Given the description of an element on the screen output the (x, y) to click on. 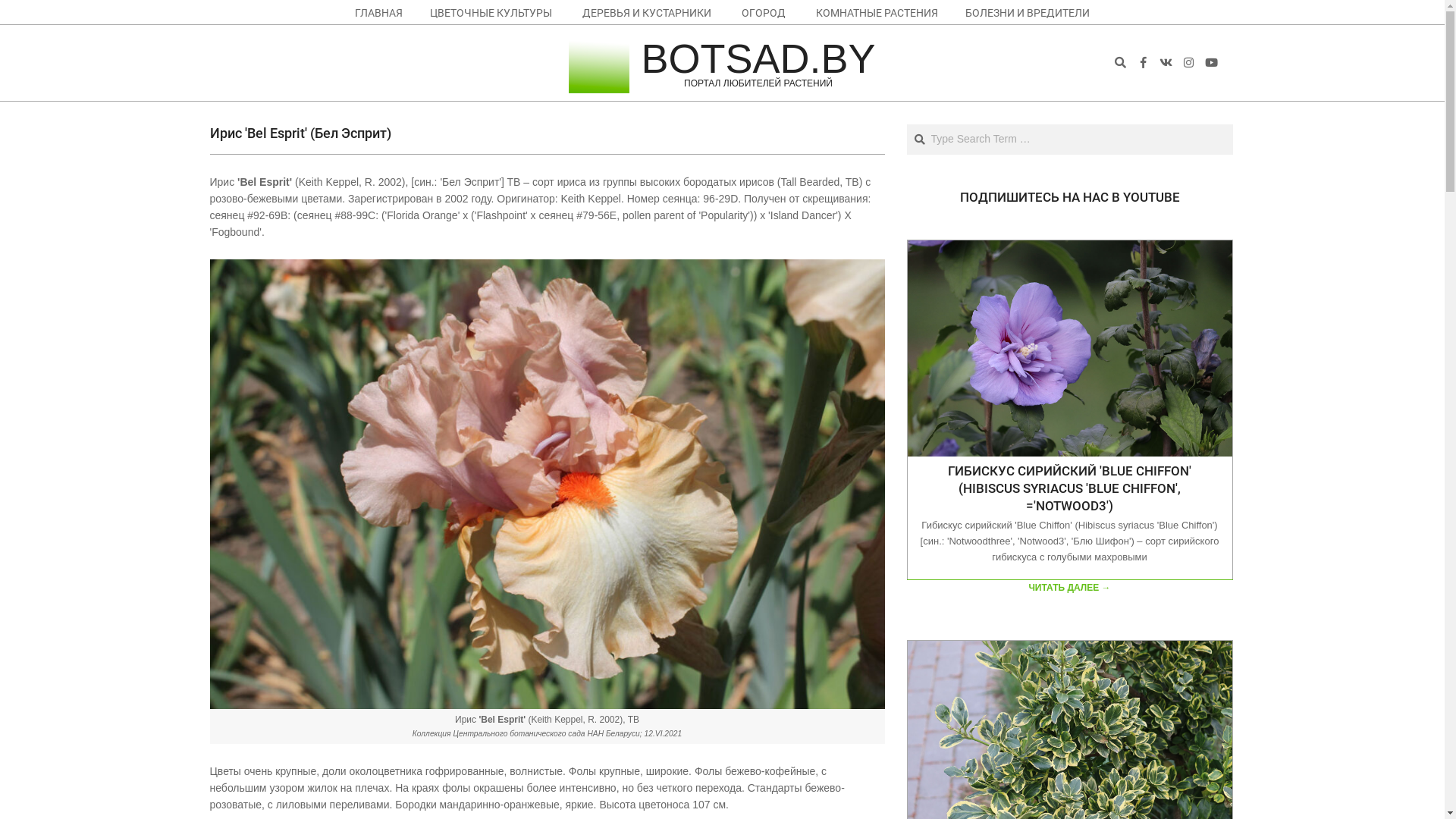
Search Element type: text (22, 8)
BOTSAD.BY Element type: text (757, 58)
